Given the description of an element on the screen output the (x, y) to click on. 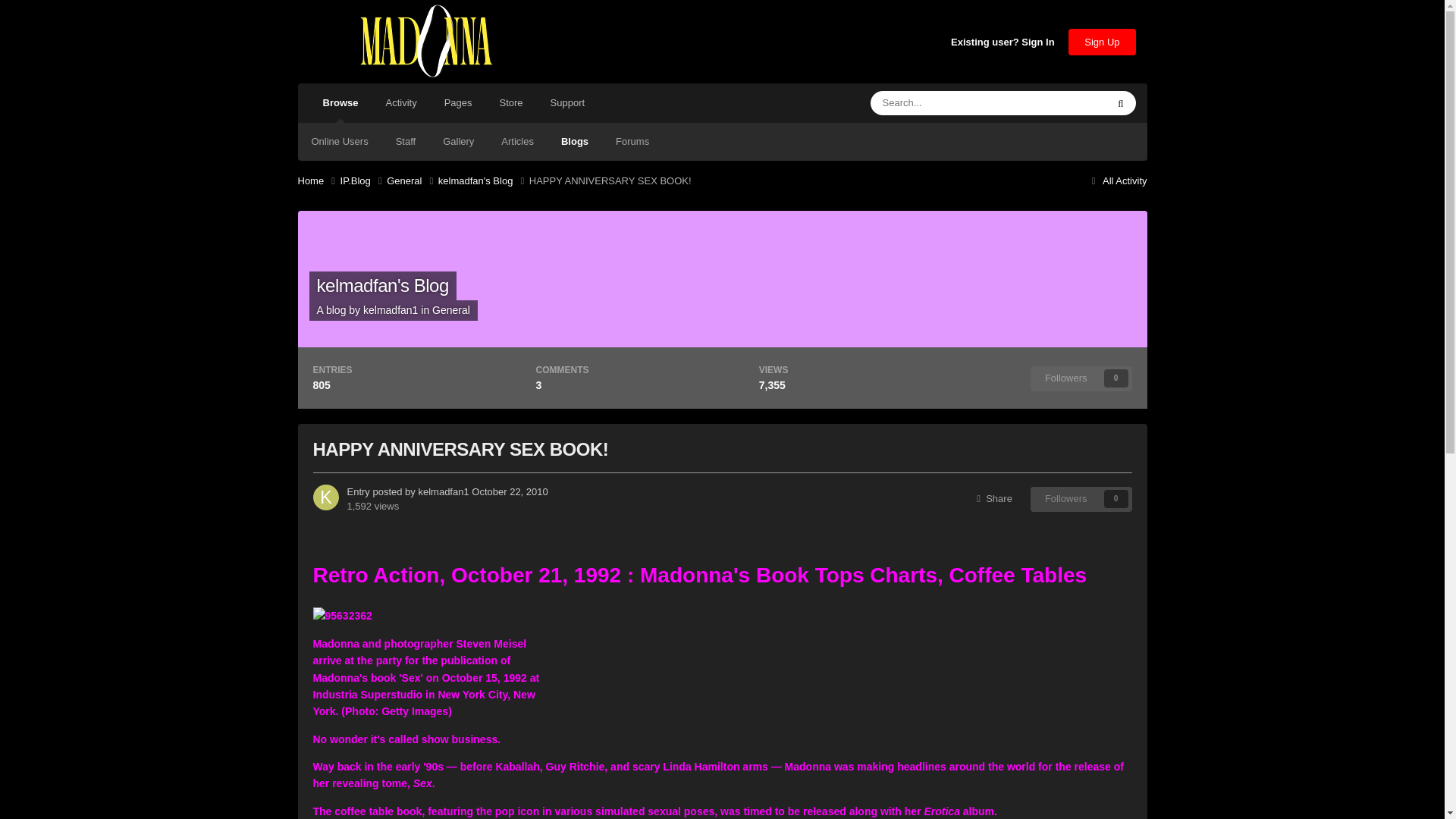
Staff (405, 141)
Sign Up (1101, 41)
Go to kelmadfan1's profile (325, 497)
Sign in to follow this (1081, 498)
Sign in to follow this (1081, 378)
Go to kelmadfan1's profile (389, 309)
Home (318, 181)
General (451, 309)
Activity (400, 102)
General (412, 181)
Gallery (458, 141)
Existing user? Sign In (1002, 42)
Go to kelmadfan1's profile (442, 491)
Forums (632, 141)
kelmadfan's Blog (382, 285)
